Given the description of an element on the screen output the (x, y) to click on. 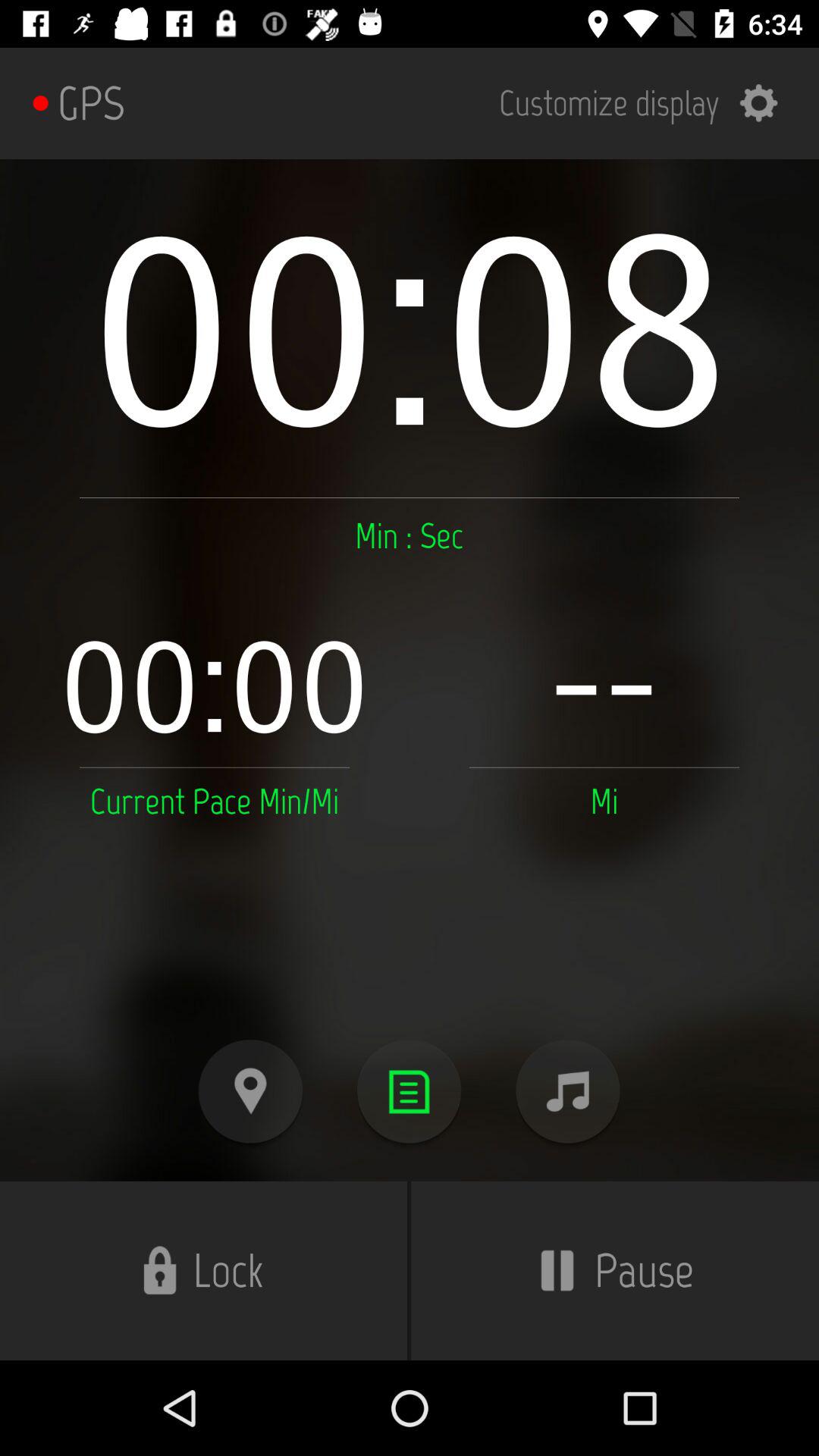
music symbol (567, 1091)
